Given the description of an element on the screen output the (x, y) to click on. 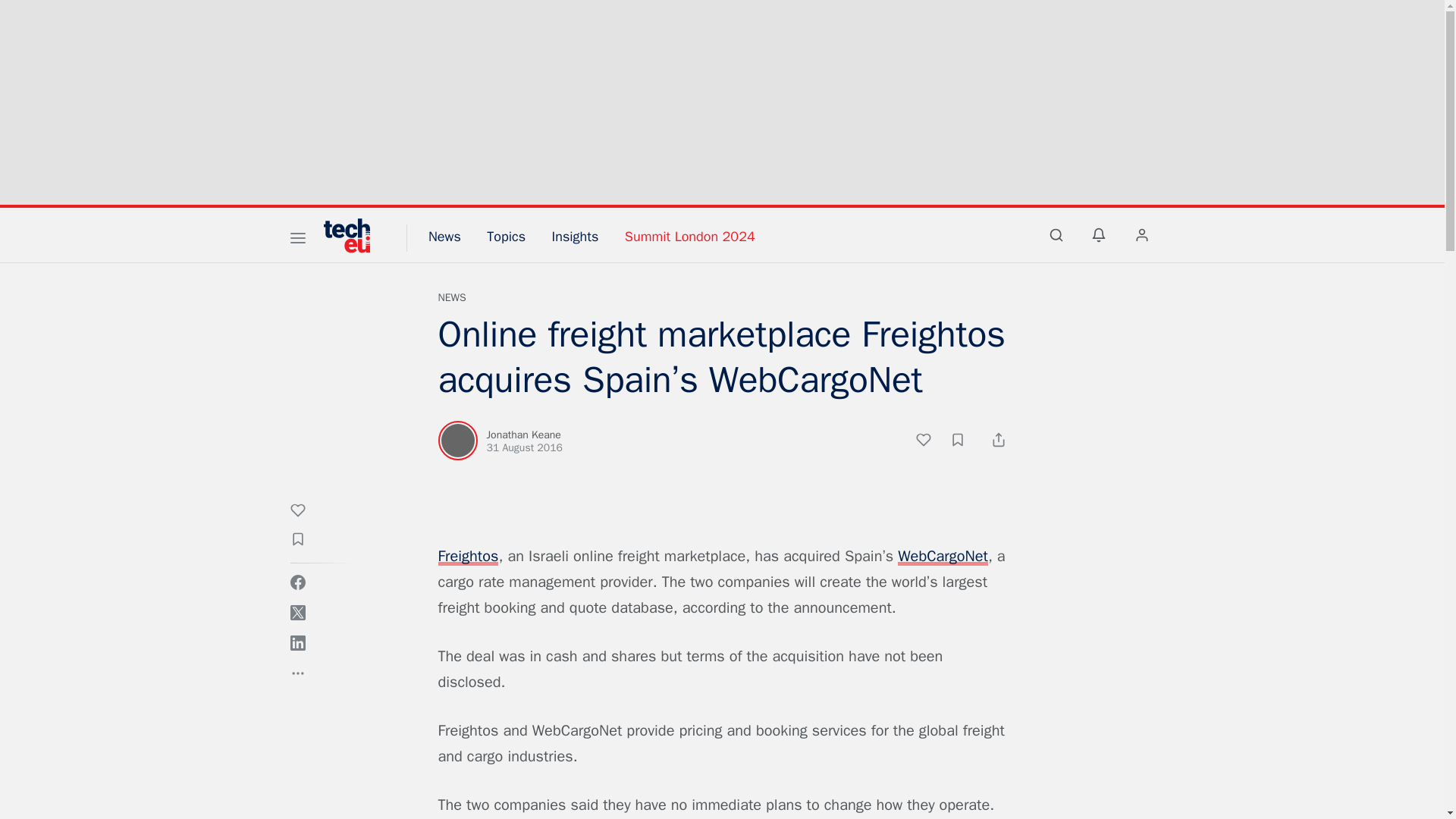
Add to Collection (964, 442)
Share on Facebook (296, 581)
News (451, 297)
Summit London 2024 (689, 236)
Like (304, 512)
Add to collection (304, 541)
Like (930, 442)
Insights (574, 236)
News (444, 236)
Share on Twitter (296, 612)
Share on Linkedin (296, 642)
Topics (505, 236)
